Given the description of an element on the screen output the (x, y) to click on. 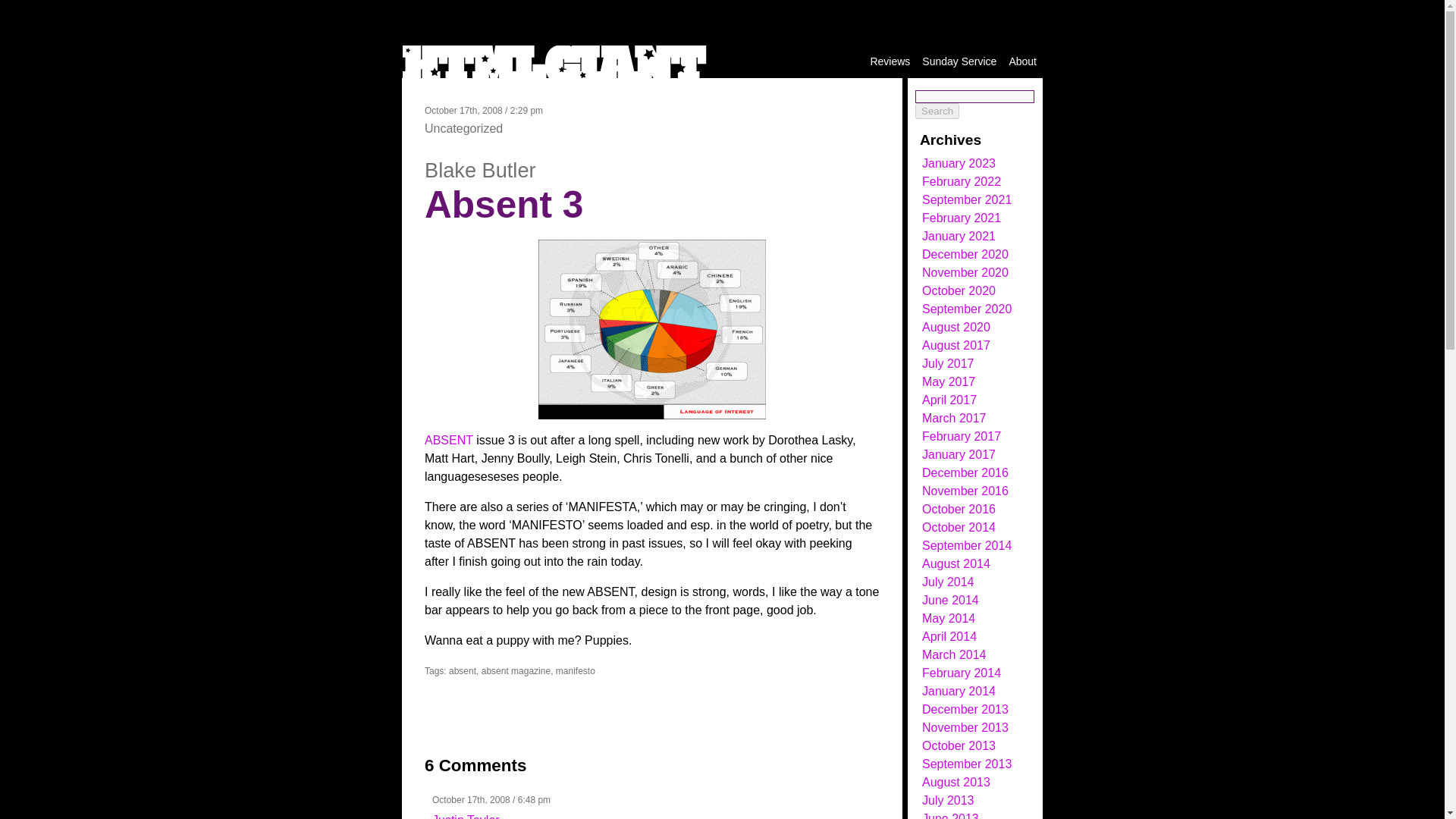
September 2021 (966, 199)
February 2017 (961, 436)
January 2021 (958, 236)
September 2020 (966, 308)
Posts by Blake Butler (480, 169)
May 2017 (948, 381)
absent magazine (515, 670)
About (1022, 61)
February 2021 (961, 217)
July 2017 (947, 363)
Search (937, 110)
February 2022 (961, 181)
Search (937, 110)
December 2020 (965, 254)
ABSENT (449, 440)
